Given the description of an element on the screen output the (x, y) to click on. 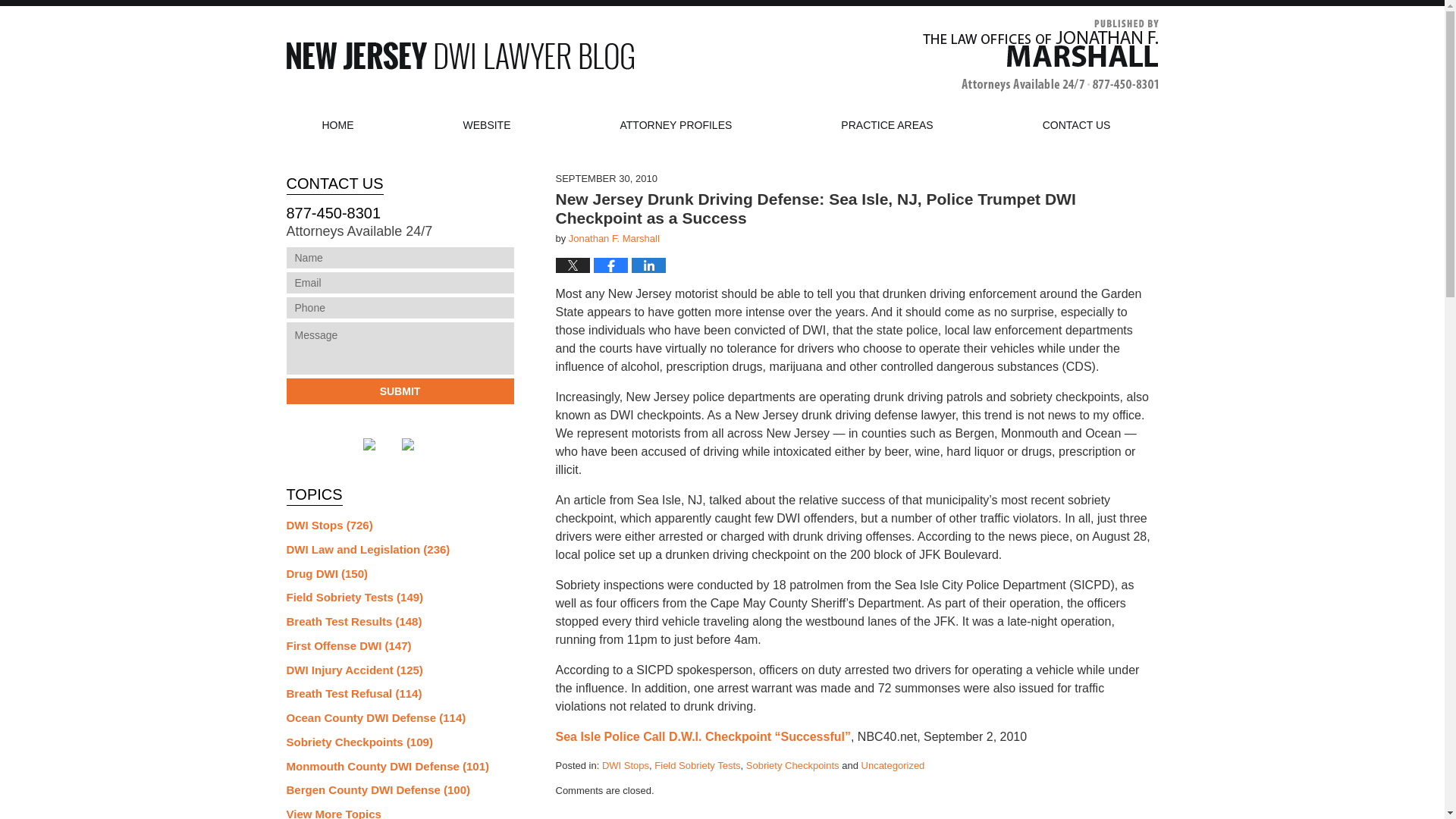
HOME (336, 125)
New Jersey DWI Lawyer Blog (459, 55)
Published By The Law Offices of Jonathan F. Marshall (1039, 55)
Uncategorized (892, 765)
View all posts in Uncategorized (892, 765)
ATTORNEY PROFILES (676, 125)
PRACTICE AREAS (886, 125)
Field Sobriety Tests (696, 765)
View all posts in DWI Stops (625, 765)
DWI Stops (625, 765)
